Given the description of an element on the screen output the (x, y) to click on. 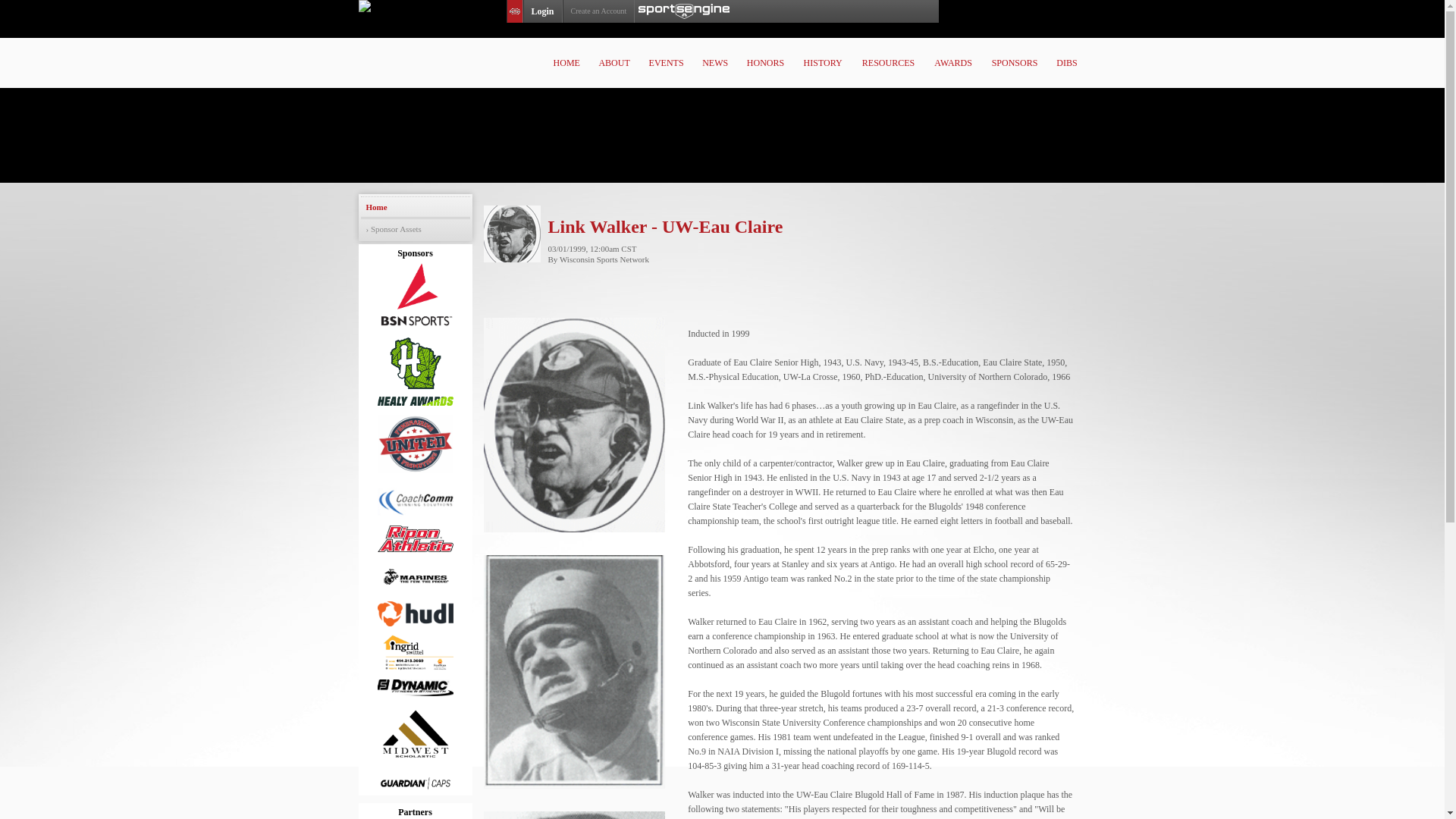
Wisconsin Football Coaches Association (733, 47)
click to go to 'About' (614, 62)
HOME (566, 62)
Wisconsin Football Coaches Association Homepage (733, 47)
click to go to 'Home' (566, 62)
Create an Account (598, 11)
Login (542, 11)
SportsEngine (684, 11)
Create an Account (598, 11)
Login (542, 11)
EVENTS (666, 62)
click to go to 'Events' (666, 62)
ABOUT (614, 62)
